Given the description of an element on the screen output the (x, y) to click on. 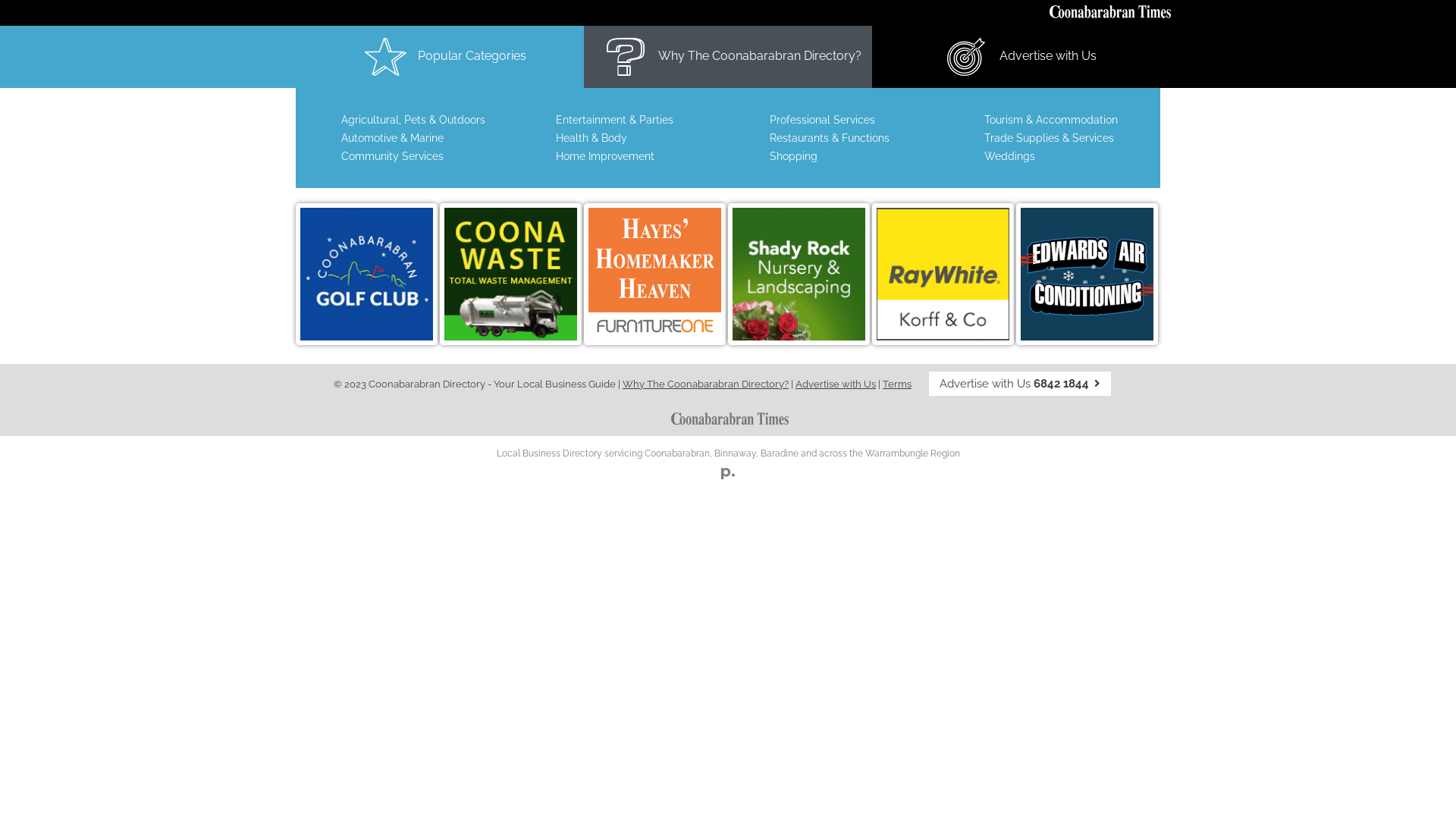
Community Services Element type: text (392, 156)
Popular Categories Element type: text (439, 56)
Entertainment & Parties Element type: text (613, 119)
Tourism & Accommodation Element type: text (1050, 119)
Advertise with Us 6842 1844 Element type: text (1019, 383)
Agricultural, Pets & Outdoors Element type: text (413, 119)
Health & Body Element type: text (590, 137)
Terms Element type: text (896, 383)
Advertise with Us Element type: text (1016, 56)
Restaurants & Functions Element type: text (829, 137)
Trade Supplies & Services Element type: text (1048, 137)
Shopping Element type: text (793, 156)
Why The Coonabarabran Directory? Element type: text (727, 56)
Home Improvement Element type: text (604, 156)
Automotive & Marine Element type: text (392, 137)
Weddings Element type: text (1009, 156)
Why The Coonabarabran Directory? Element type: text (705, 383)
Professional Services Element type: text (822, 119)
Advertise with Us Element type: text (835, 383)
